Given the description of an element on the screen output the (x, y) to click on. 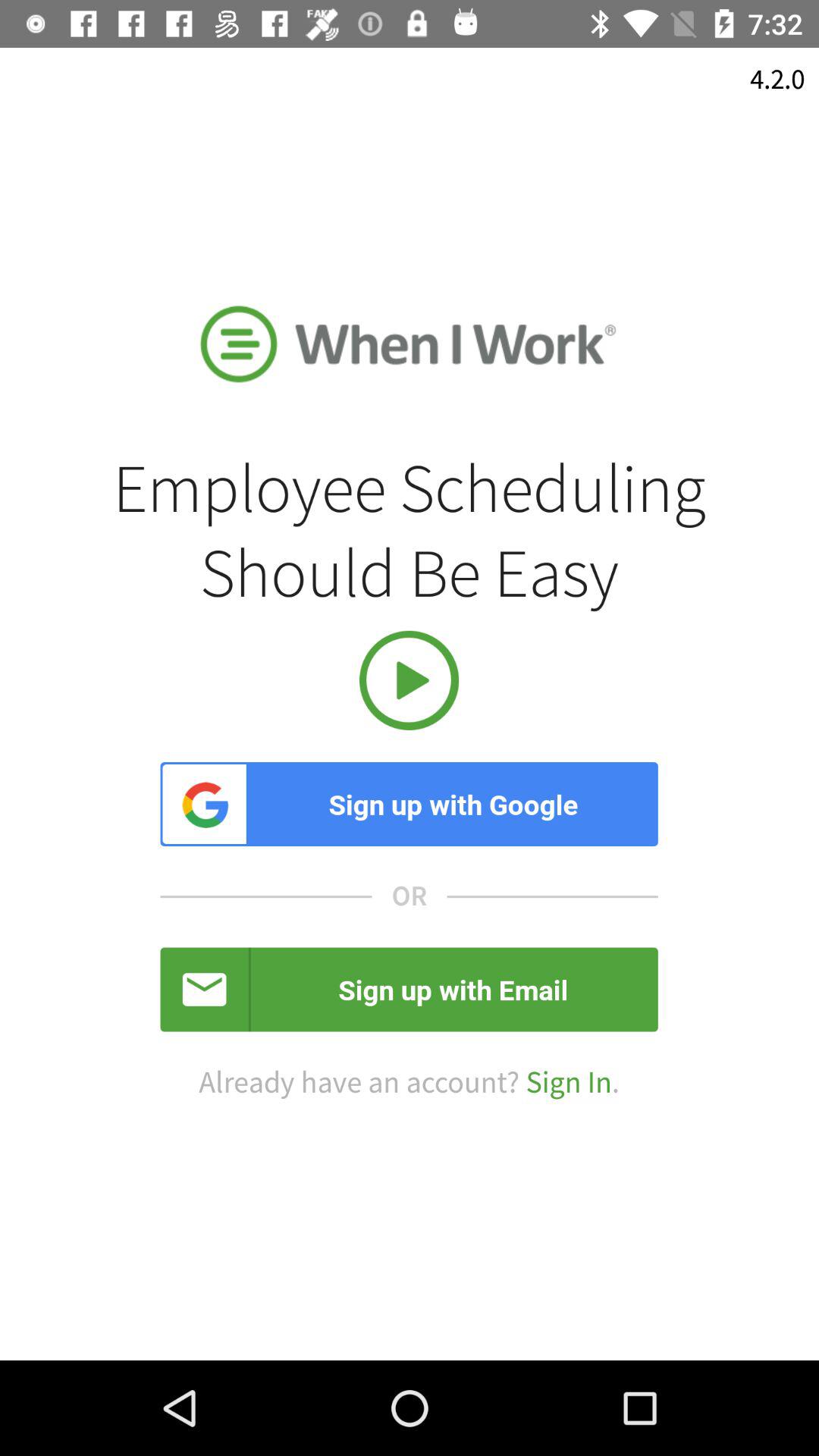
turn on the already have an item (409, 1082)
